Given the description of an element on the screen output the (x, y) to click on. 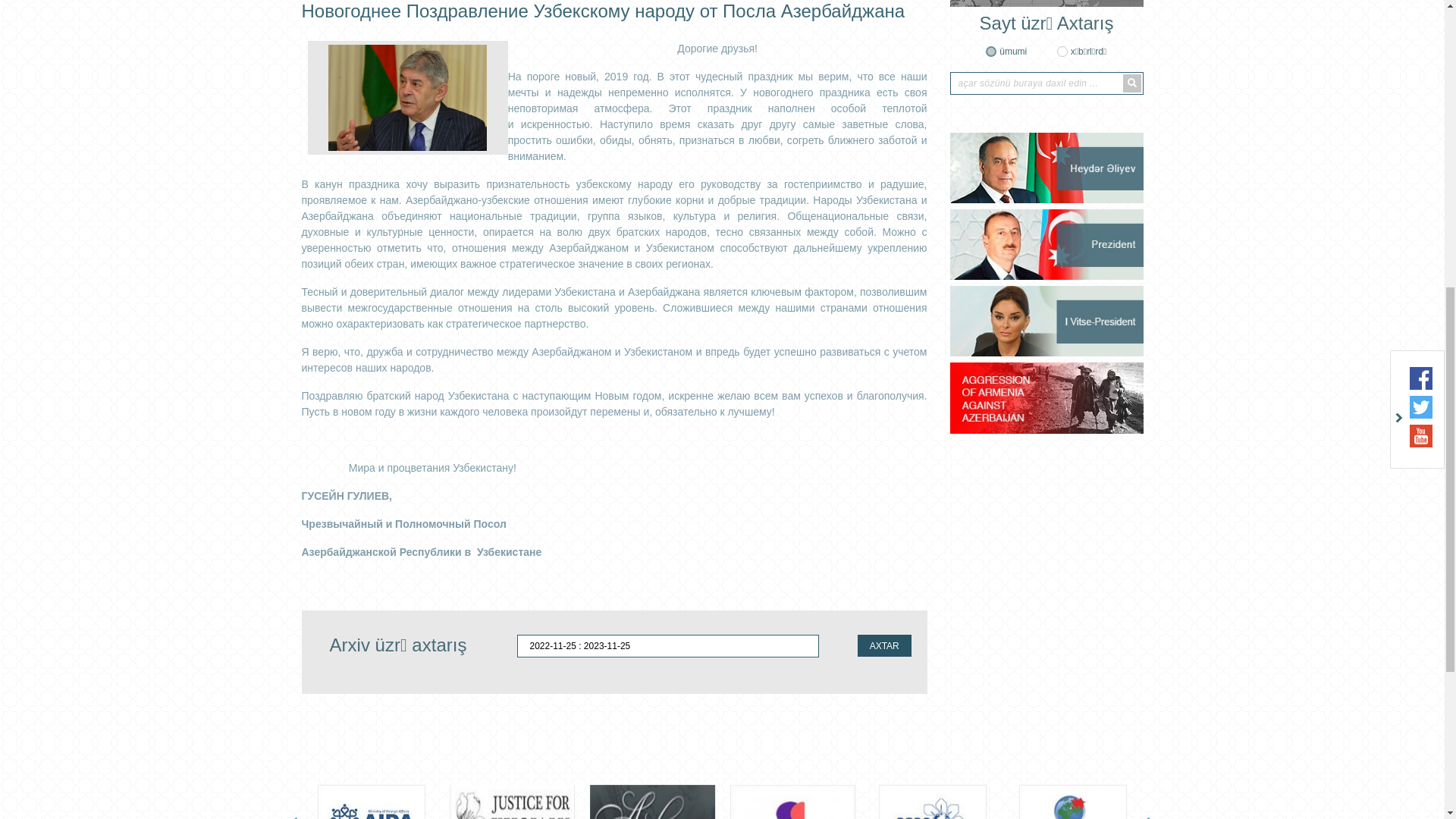
RU Element type: text (1131, 103)
AZ Element type: text (1108, 103)
ELANLAR Element type: text (807, 537)
